Given the description of an element on the screen output the (x, y) to click on. 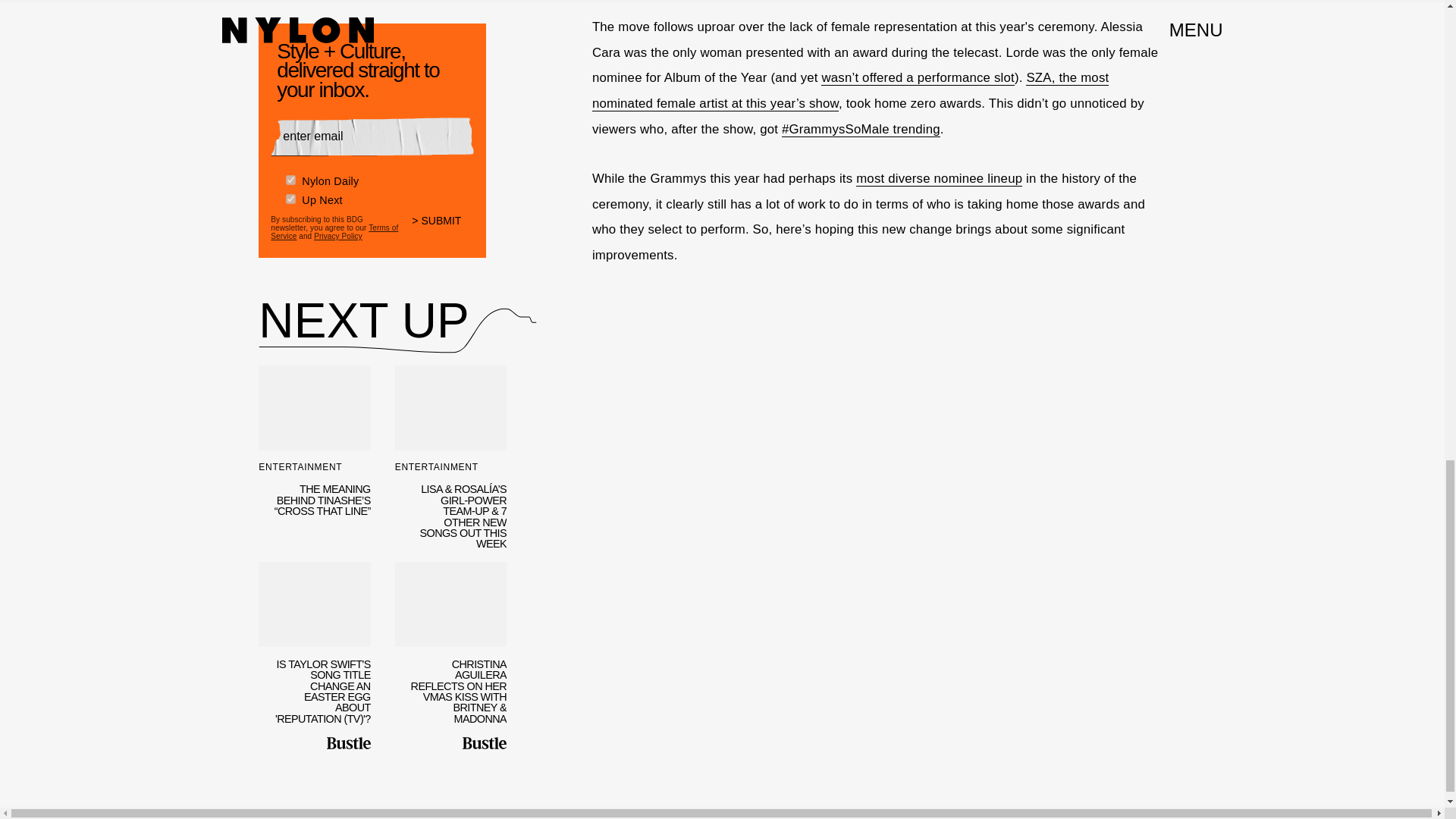
Privacy Policy (338, 235)
SUBMIT (443, 230)
most diverse nominee lineup (939, 178)
Terms of Service (333, 231)
